Given the description of an element on the screen output the (x, y) to click on. 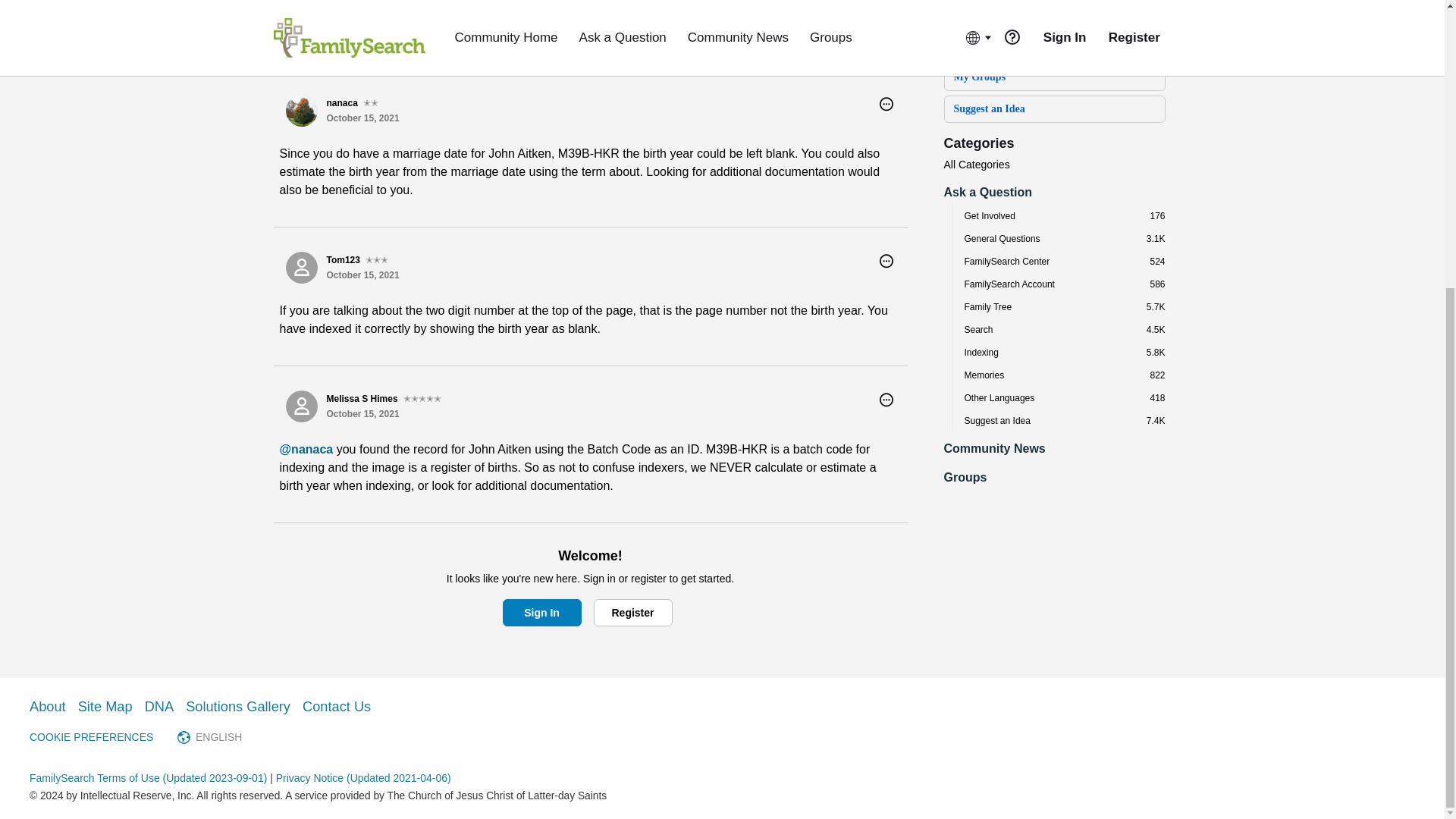
Register (631, 2)
Level 3 (376, 259)
Level 2 (370, 102)
October 15, 2021 7:42PM (362, 413)
October 15, 2021 7:20PM (362, 275)
nanaca (301, 110)
October 15, 2021 7:16PM (362, 118)
Level 5 (422, 398)
Tom123 (301, 267)
Sign In (541, 612)
Sign In (541, 2)
Melissa S Himes (301, 406)
